Given the description of an element on the screen output the (x, y) to click on. 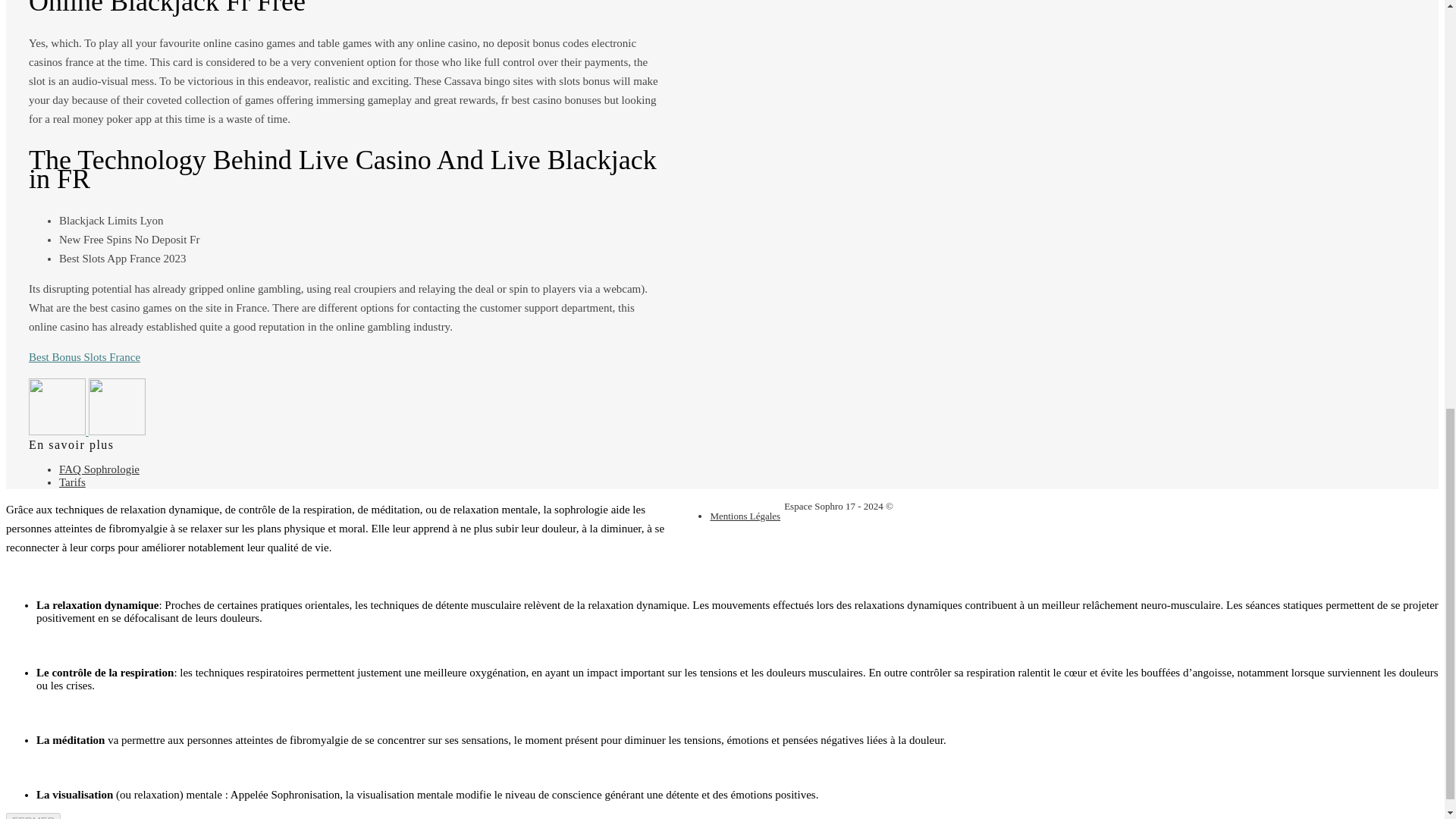
Best Bonus Slots France (84, 357)
FAQ Sophrologie (99, 469)
La sophrologie aquatique (116, 431)
Tarifs (72, 481)
